Given the description of an element on the screen output the (x, y) to click on. 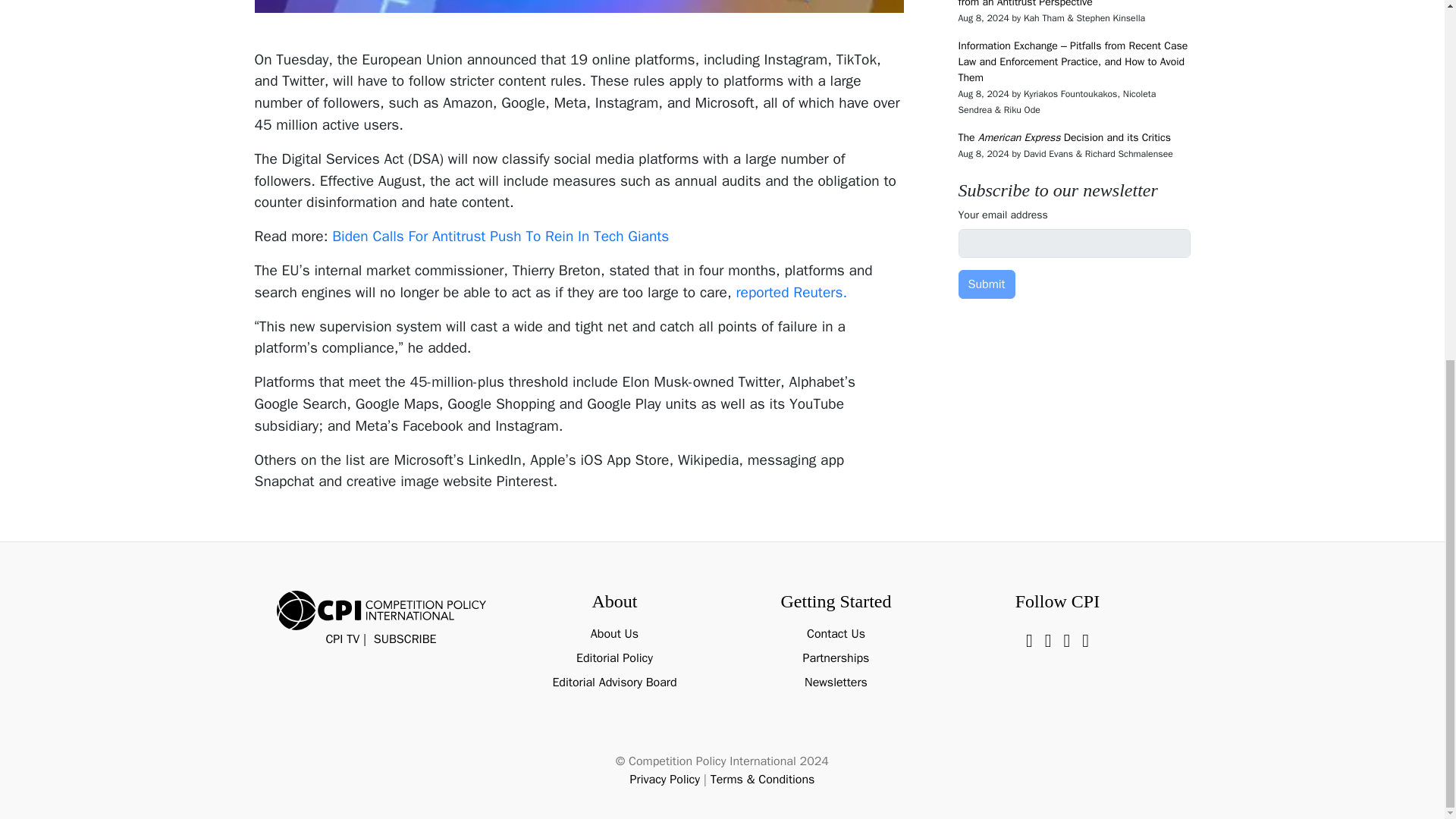
The American Express Decision and its Critics (1064, 137)
Submit (986, 284)
reported Reuters.  (793, 292)
Biden Calls For Antitrust Push To Rein In Tech Giants (499, 236)
